Given the description of an element on the screen output the (x, y) to click on. 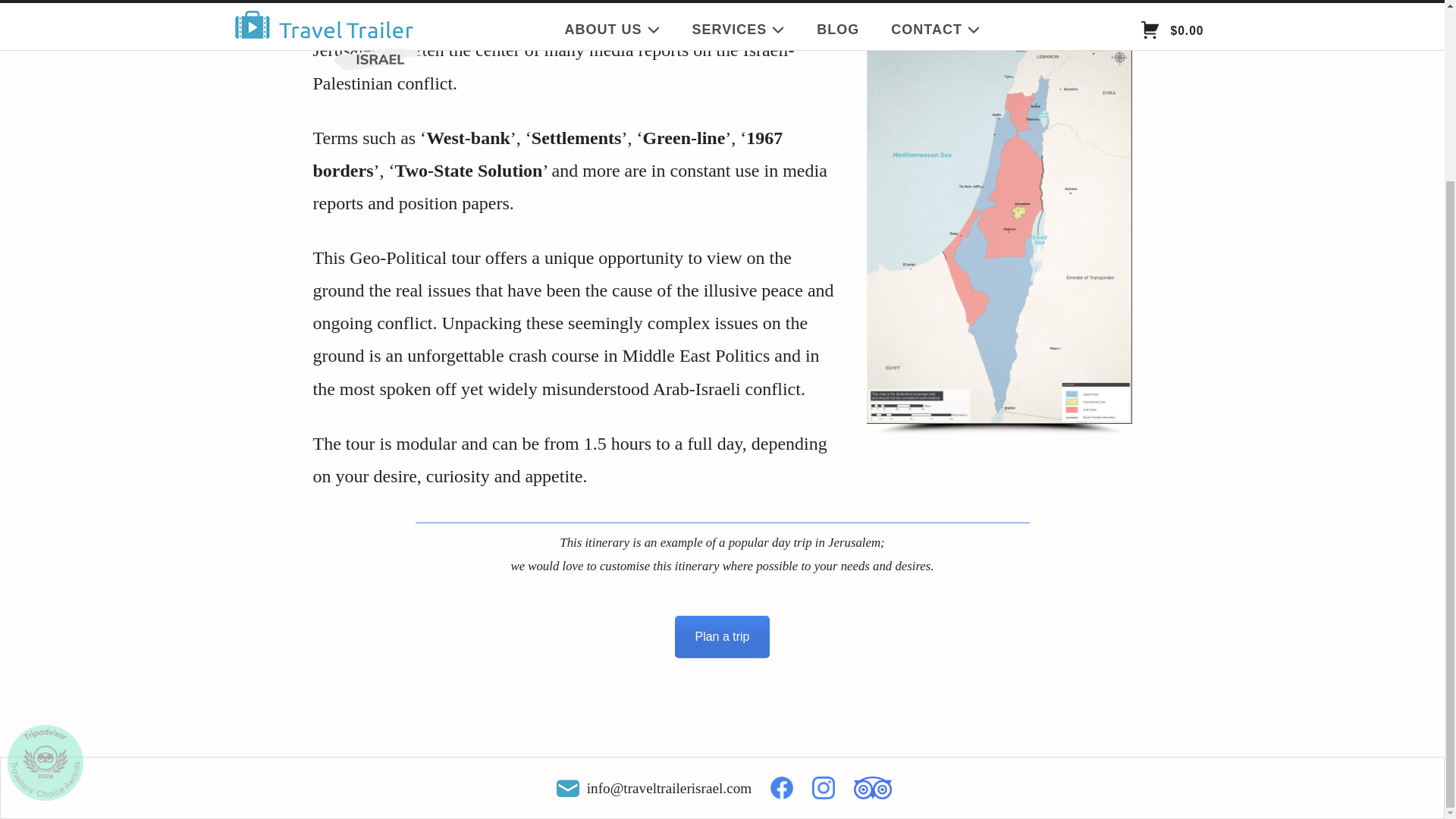
Plan a trip (721, 636)
E-mail (568, 788)
Plan a trip (721, 636)
